Given the description of an element on the screen output the (x, y) to click on. 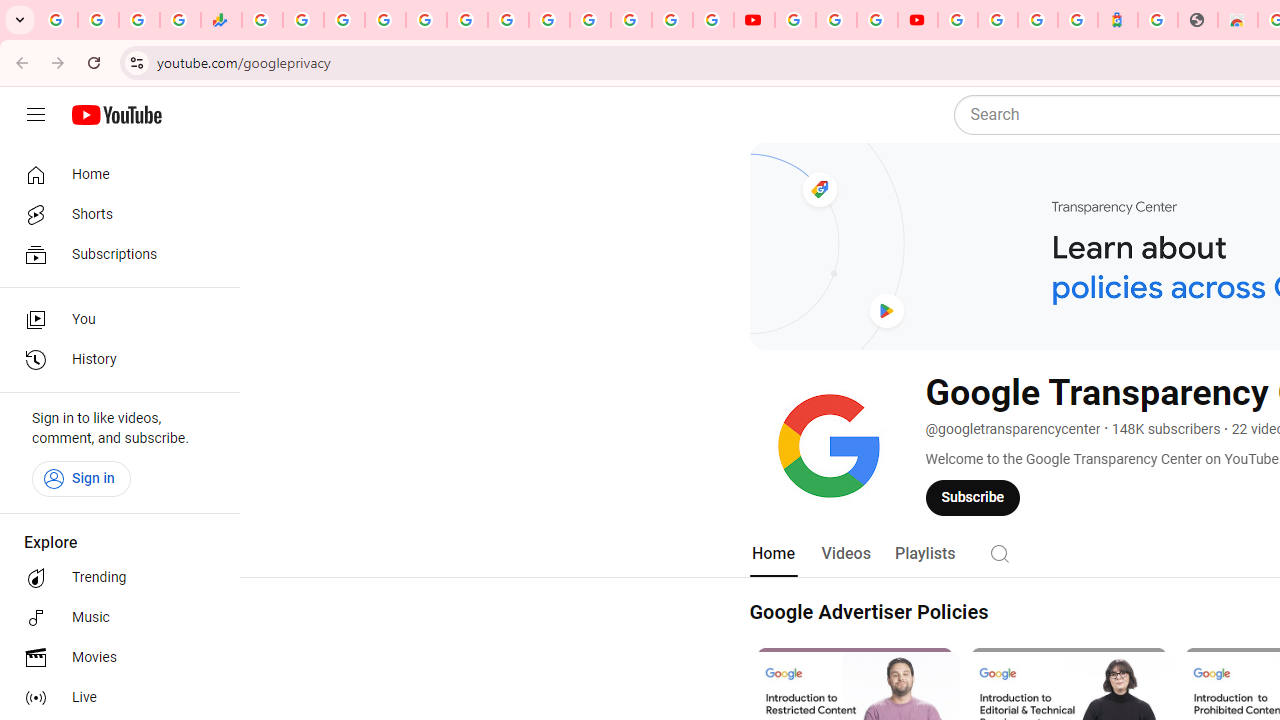
Live (113, 697)
YouTube (753, 20)
History (113, 359)
